Given the description of an element on the screen output the (x, y) to click on. 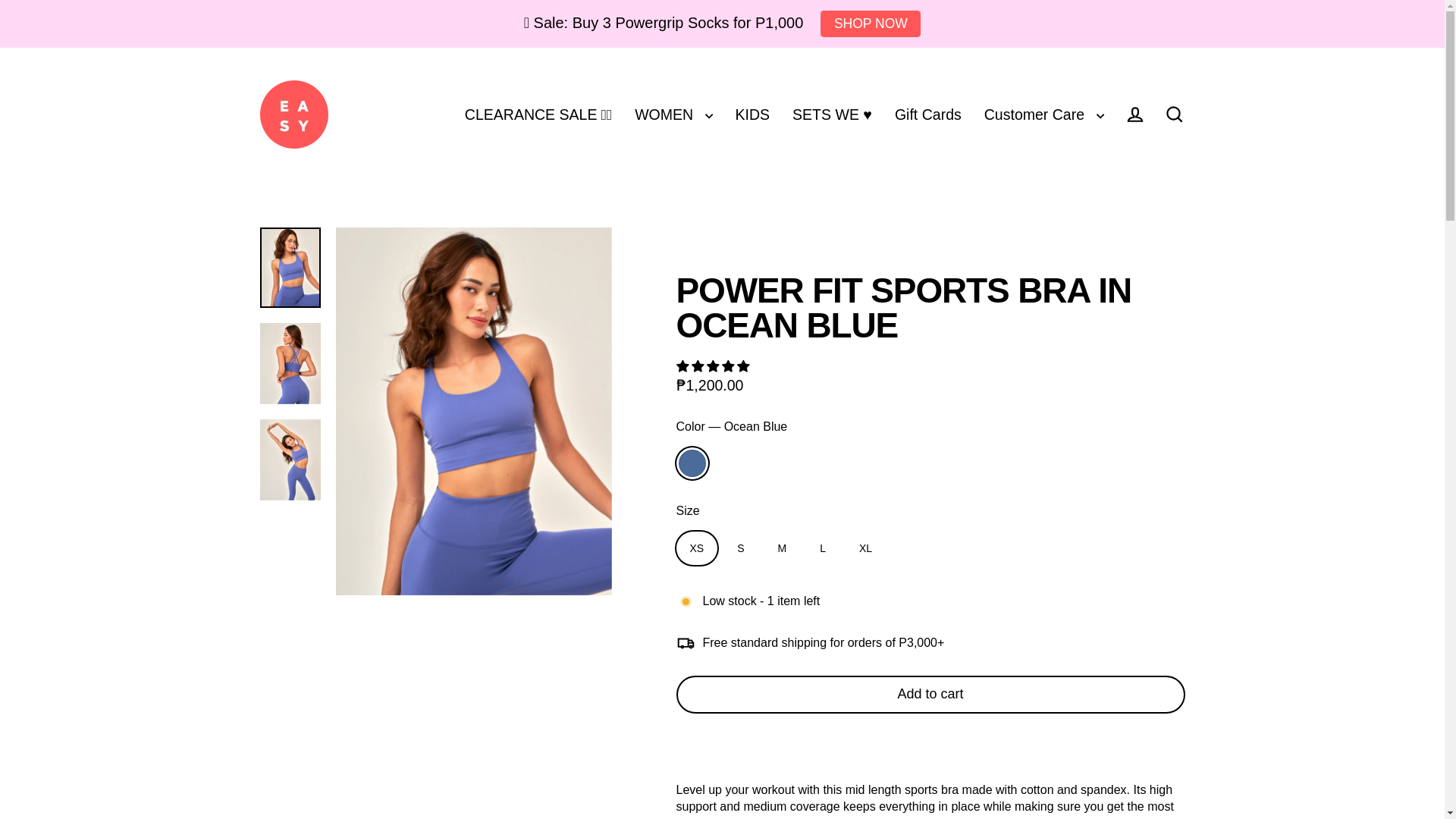
SHOP NOW (870, 23)
